Given the description of an element on the screen output the (x, y) to click on. 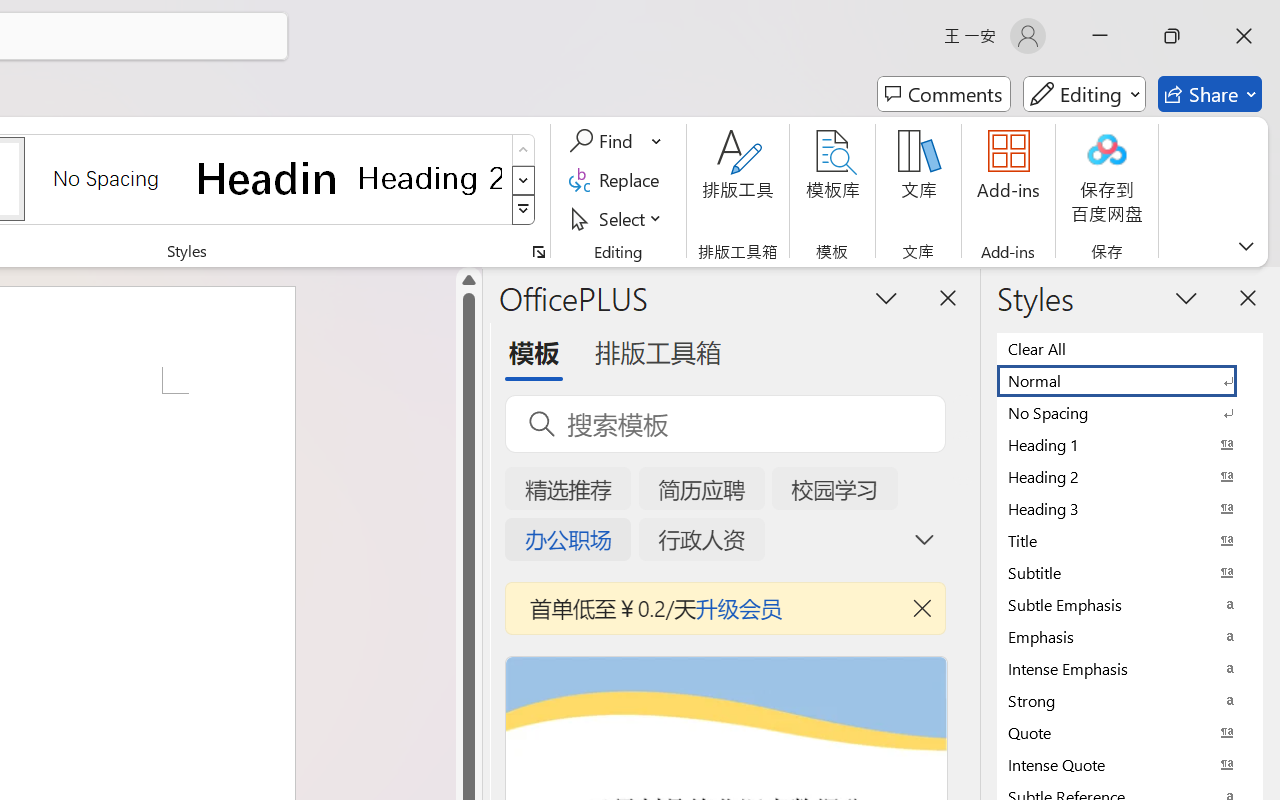
Title (1130, 540)
No Spacing (1130, 412)
Find (616, 141)
Restore Down (1172, 36)
Replace... (617, 179)
Subtle Emphasis (1130, 604)
Share (1210, 94)
Styles... (538, 252)
Ribbon Display Options (1246, 245)
Mode (1083, 94)
